Given the description of an element on the screen output the (x, y) to click on. 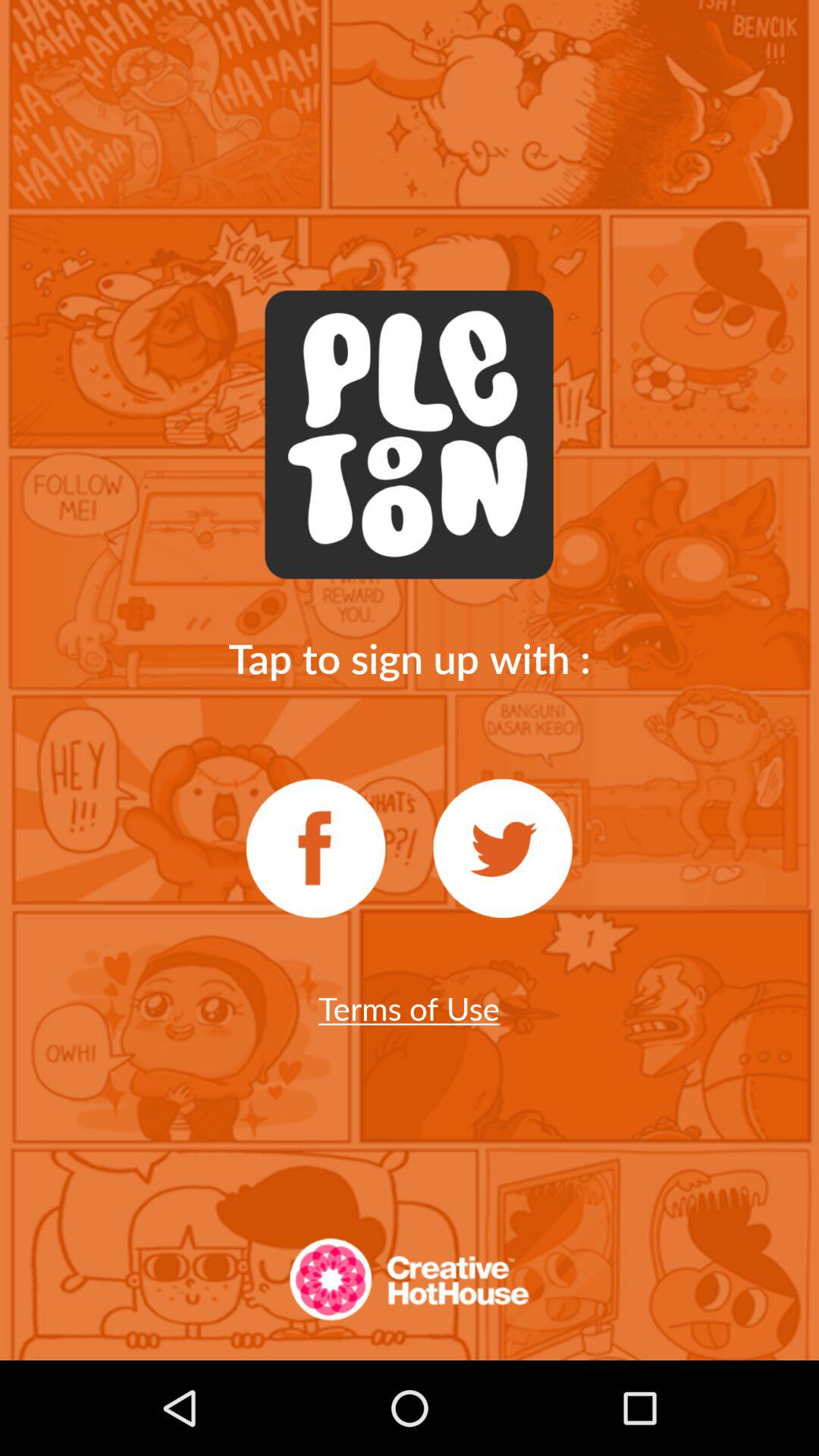
open the facebook webiste (315, 848)
